Given the description of an element on the screen output the (x, y) to click on. 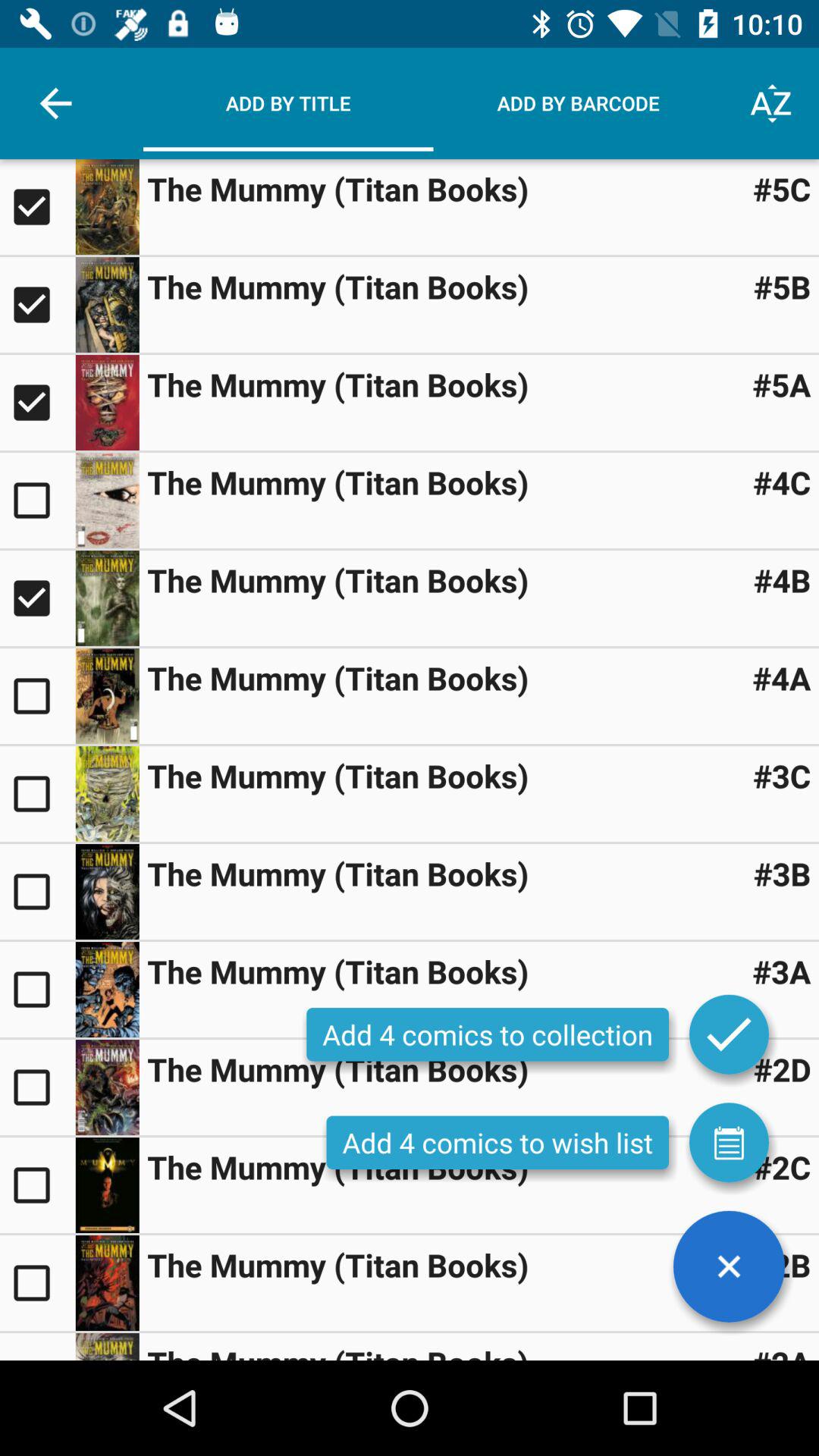
select title (37, 989)
